Given the description of an element on the screen output the (x, y) to click on. 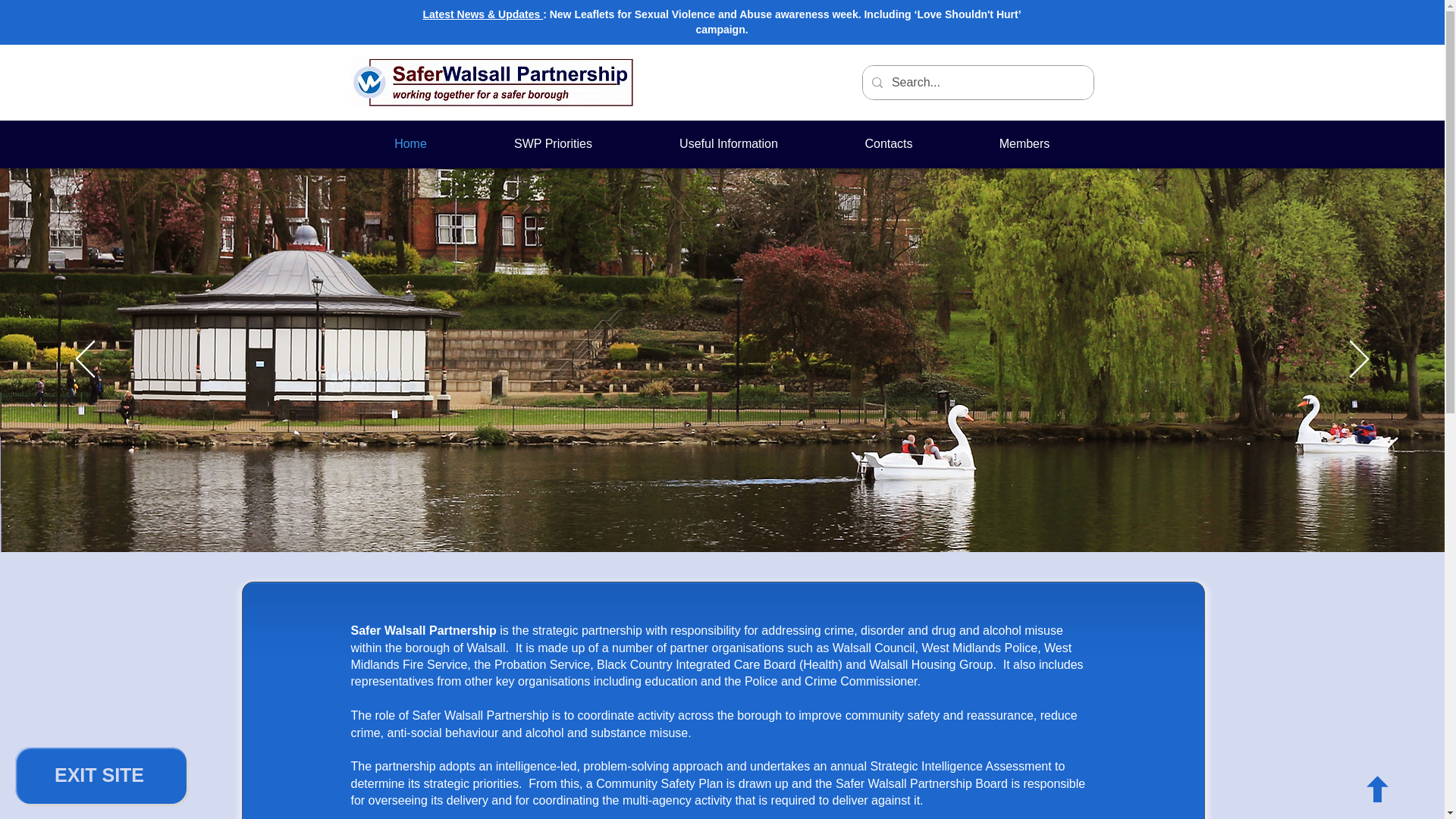
Useful Information (727, 143)
Members (1024, 143)
Home (410, 143)
EXIT SITE (100, 774)
image003.jpg (493, 82)
Contacts (889, 143)
SWP Priorities (552, 143)
